Given the description of an element on the screen output the (x, y) to click on. 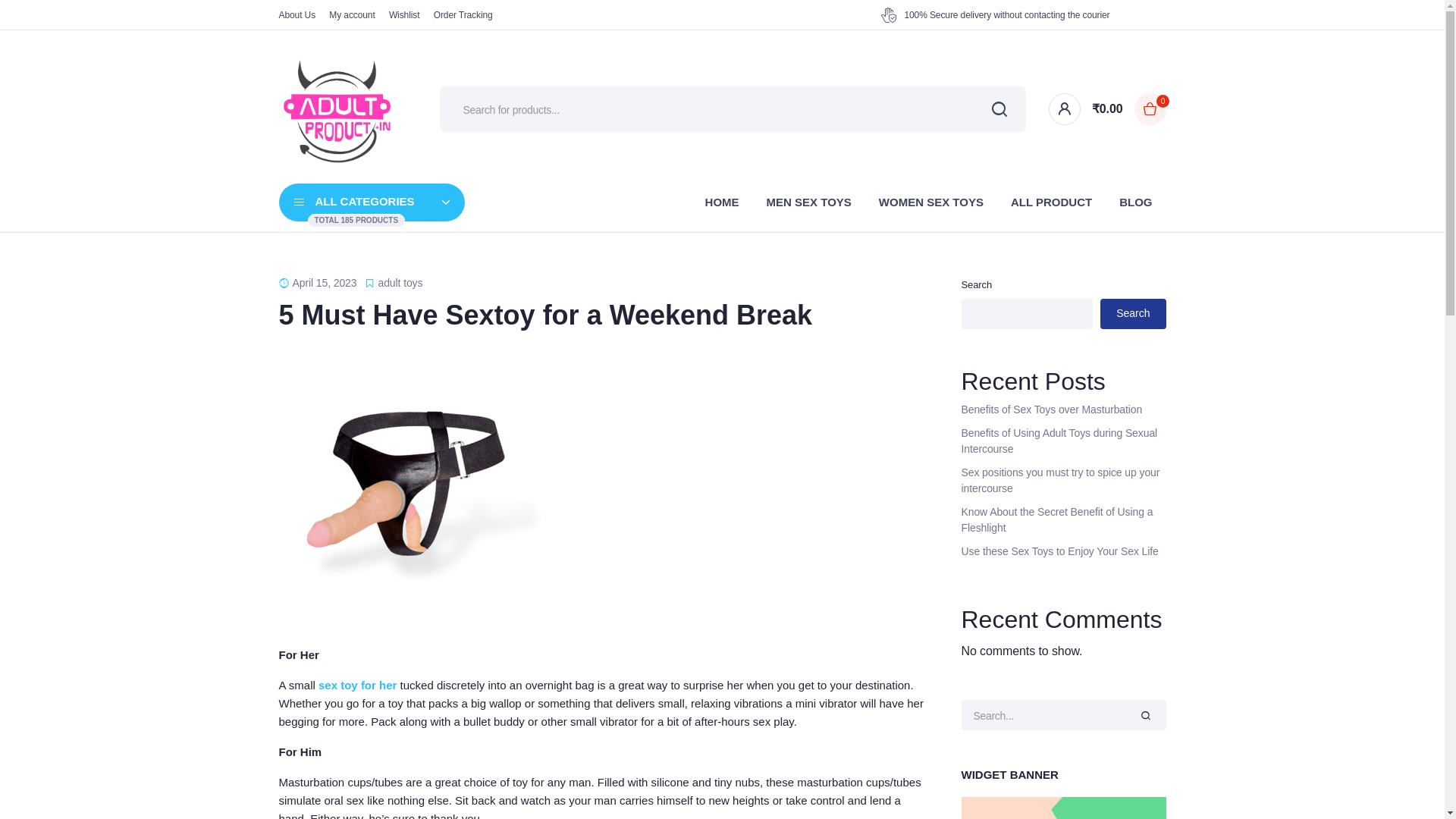
About Us (297, 14)
MEN SEX TOYS (808, 201)
WOMEN SEX TOYS (930, 201)
My account (351, 14)
Wishlist (371, 202)
Order Tracking (404, 14)
HOME (463, 14)
